Given the description of an element on the screen output the (x, y) to click on. 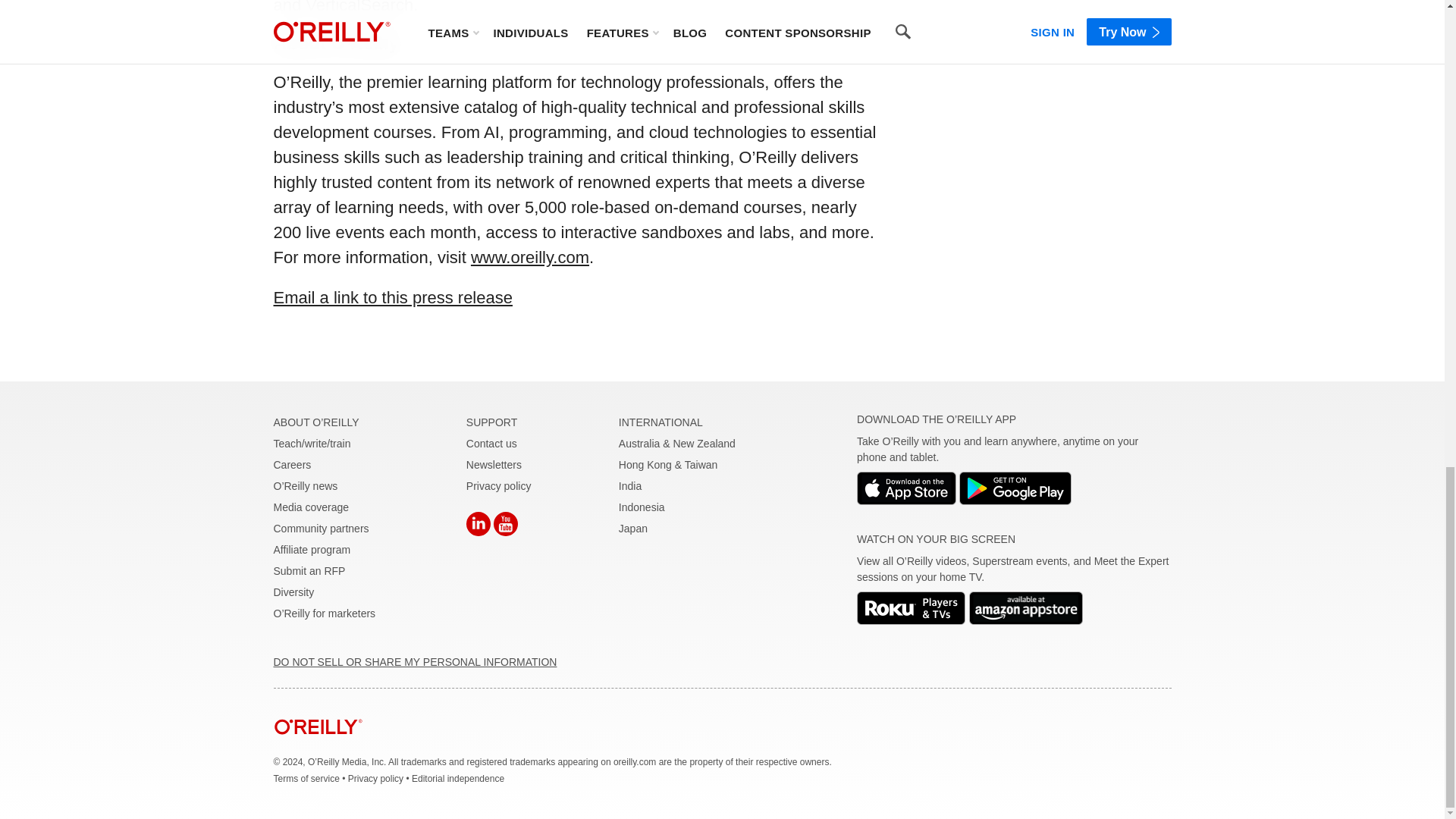
Media coverage (311, 507)
Diversity (293, 592)
home page (317, 745)
www.oreilly.com (529, 257)
Affiliate program (311, 549)
Contact us (490, 443)
Email a link to this press release (392, 297)
Submit an RFP (309, 571)
SUPPORT (490, 422)
Community partners (320, 528)
Careers (292, 464)
